Given the description of an element on the screen output the (x, y) to click on. 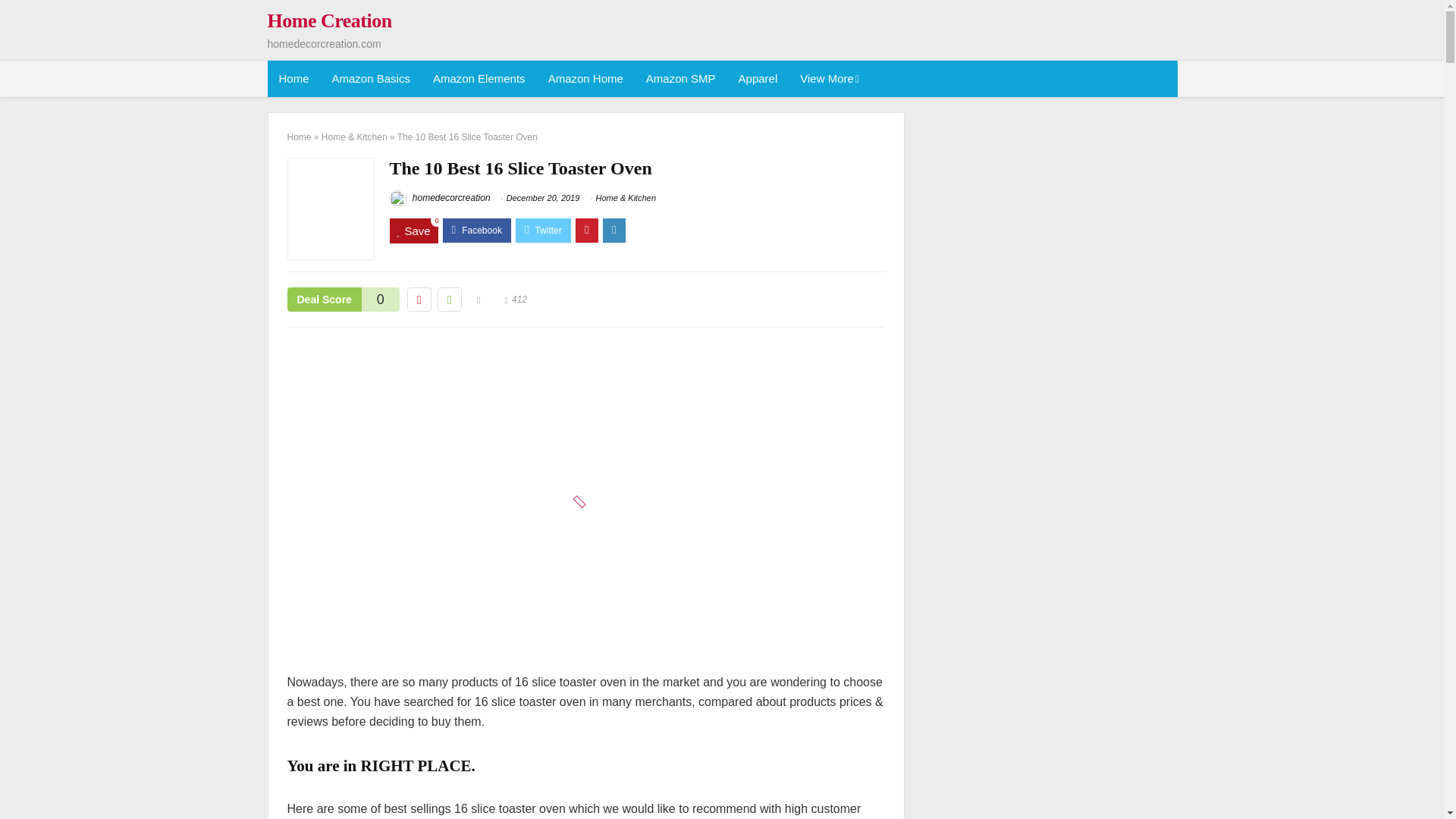
Apparel (757, 78)
Amazon SMP (680, 78)
Vote down (418, 299)
Amazon Home (585, 78)
Amazon Elements (479, 78)
Amazon Basics (371, 78)
Home (293, 78)
View More (828, 78)
